Given the description of an element on the screen output the (x, y) to click on. 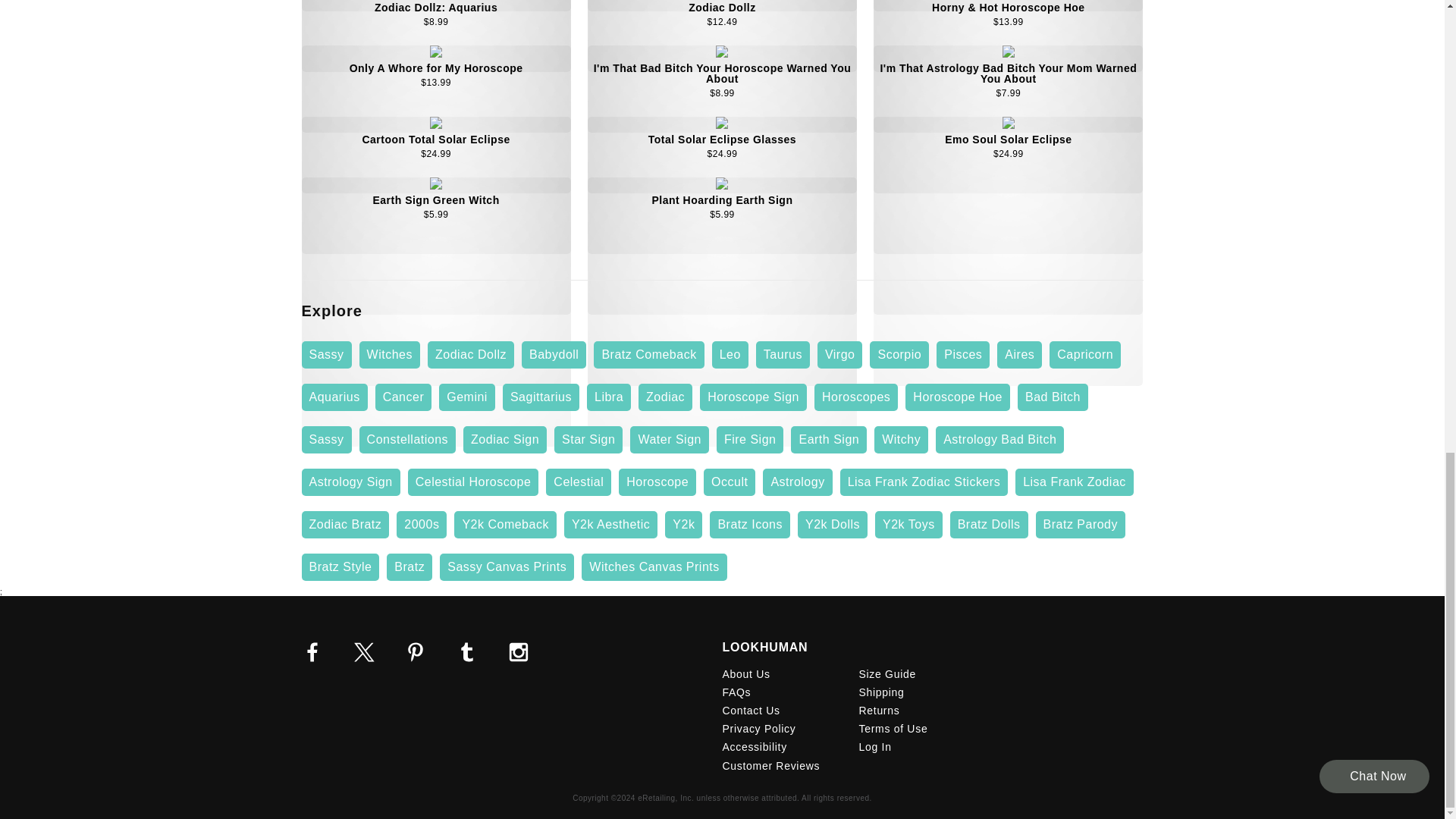
Visit us on Facebook (312, 651)
Follow us on Twitter (363, 651)
Follow us on Pinterest (415, 651)
Visit us on Tumblr (467, 651)
Follow us on Instagram (518, 651)
